Given the description of an element on the screen output the (x, y) to click on. 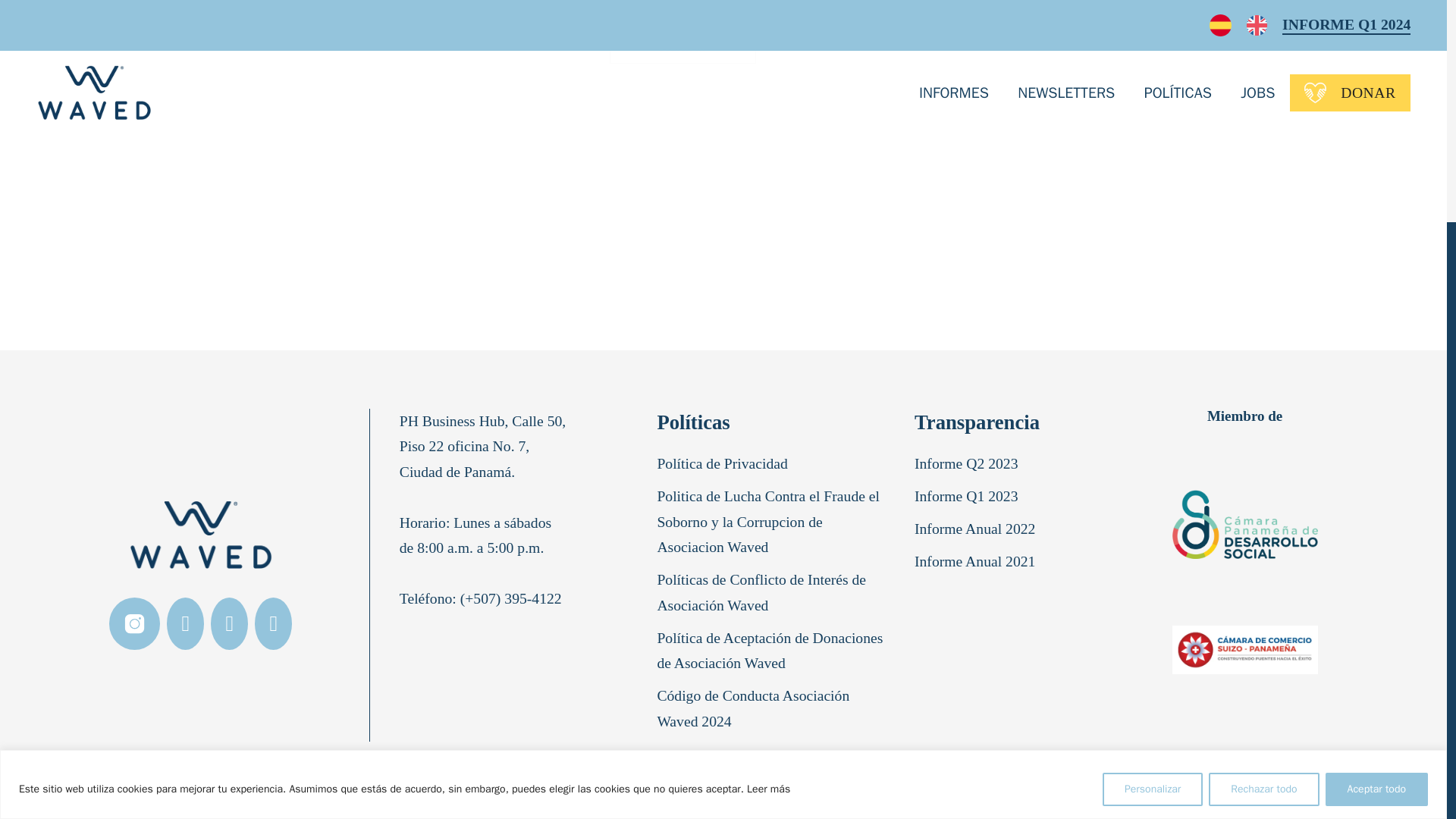
Informe Q1 2023 (969, 500)
Personalizar (1152, 483)
Aceptar todo (1376, 483)
Informe Q2 2023 (969, 467)
Rechazar todo (1263, 483)
